Given the description of an element on the screen output the (x, y) to click on. 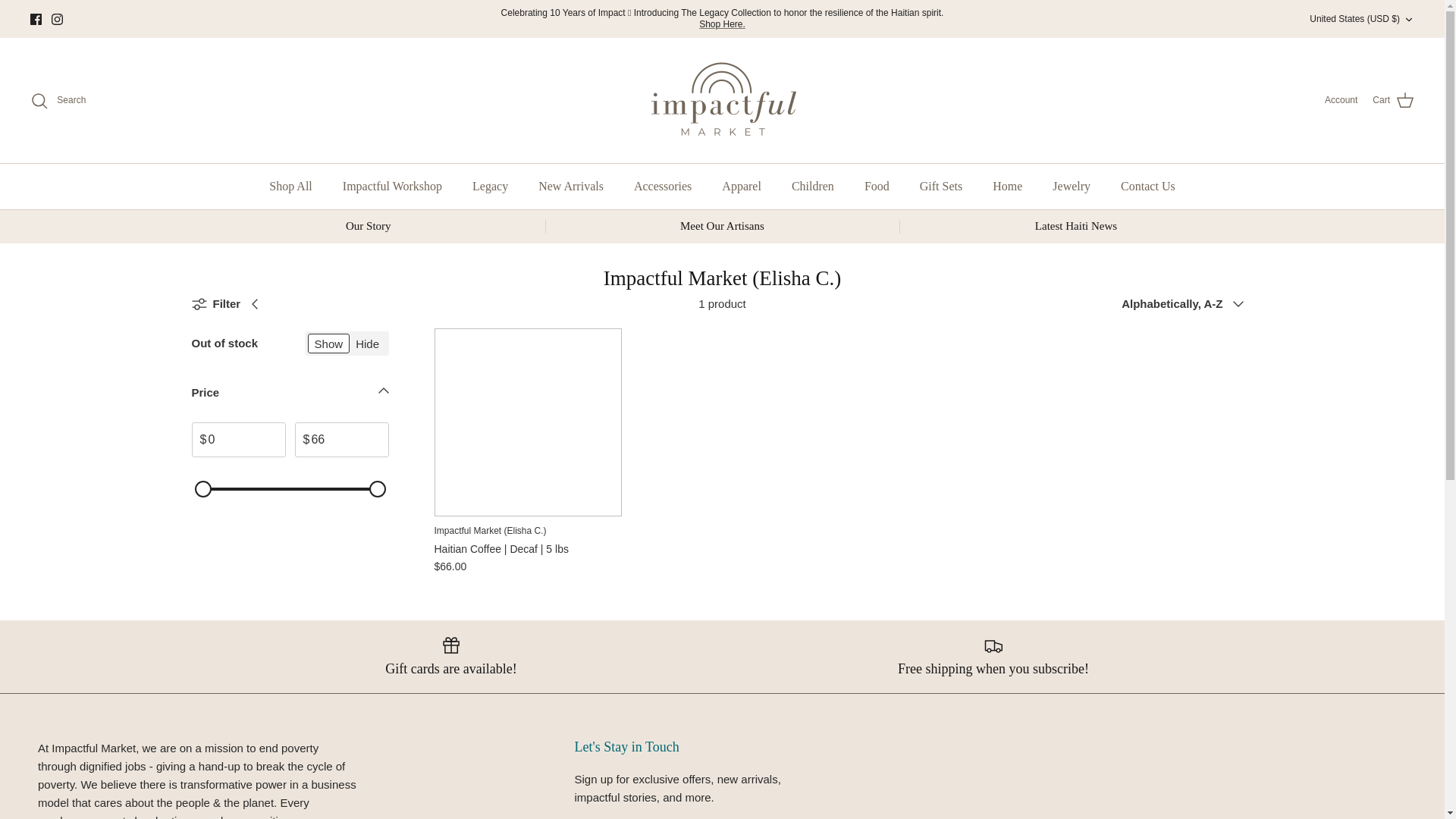
Legacy Collection (721, 23)
Shop Here. (721, 23)
Impactful Market (721, 100)
Facebook (36, 19)
Instagram (56, 19)
Facebook (36, 19)
Instagram (56, 19)
Down (383, 390)
Down (1408, 19)
